Given the description of an element on the screen output the (x, y) to click on. 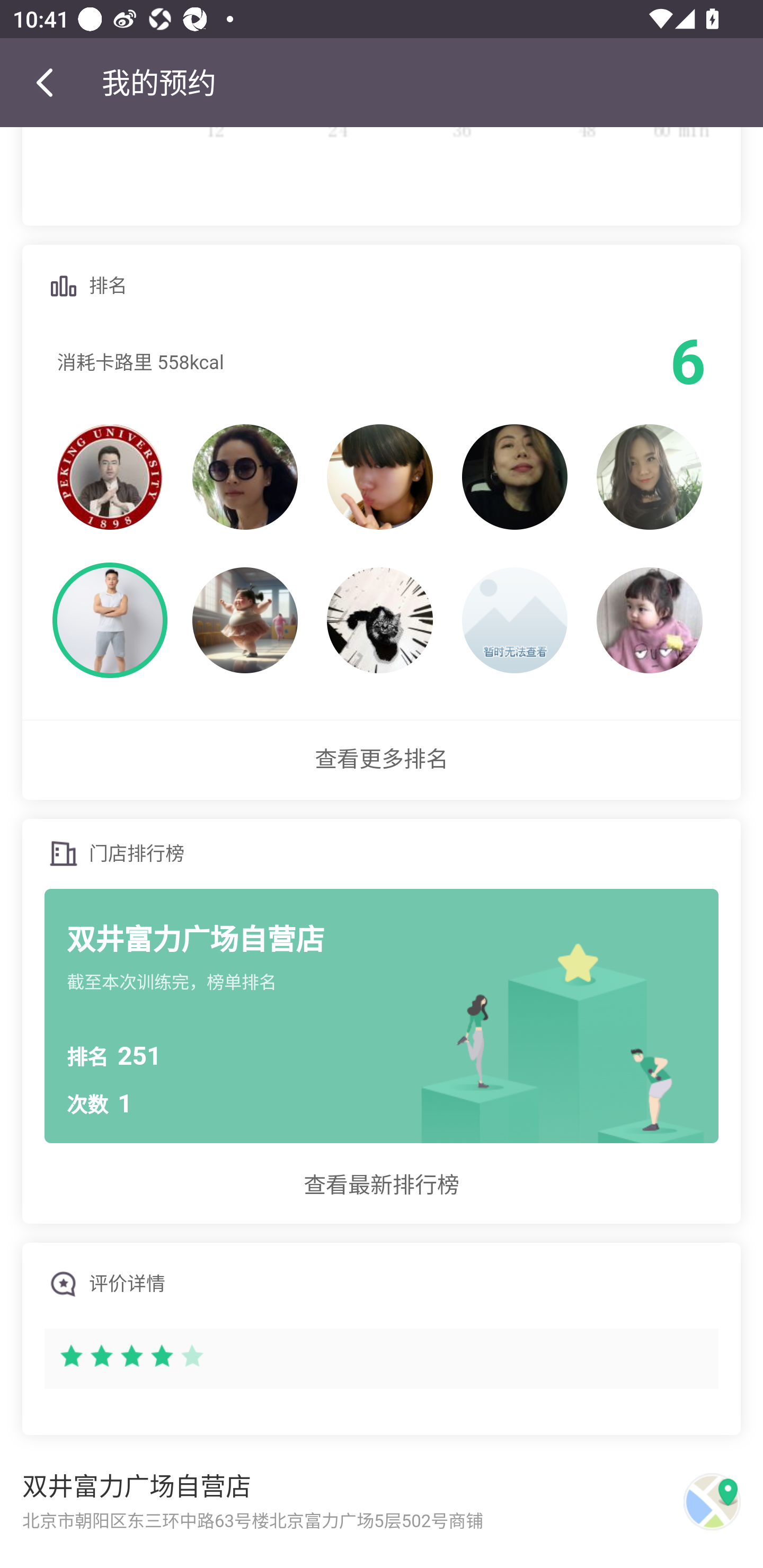
Left Button In Title Bar (50, 82)
查看更多排名 (381, 760)
